Given the description of an element on the screen output the (x, y) to click on. 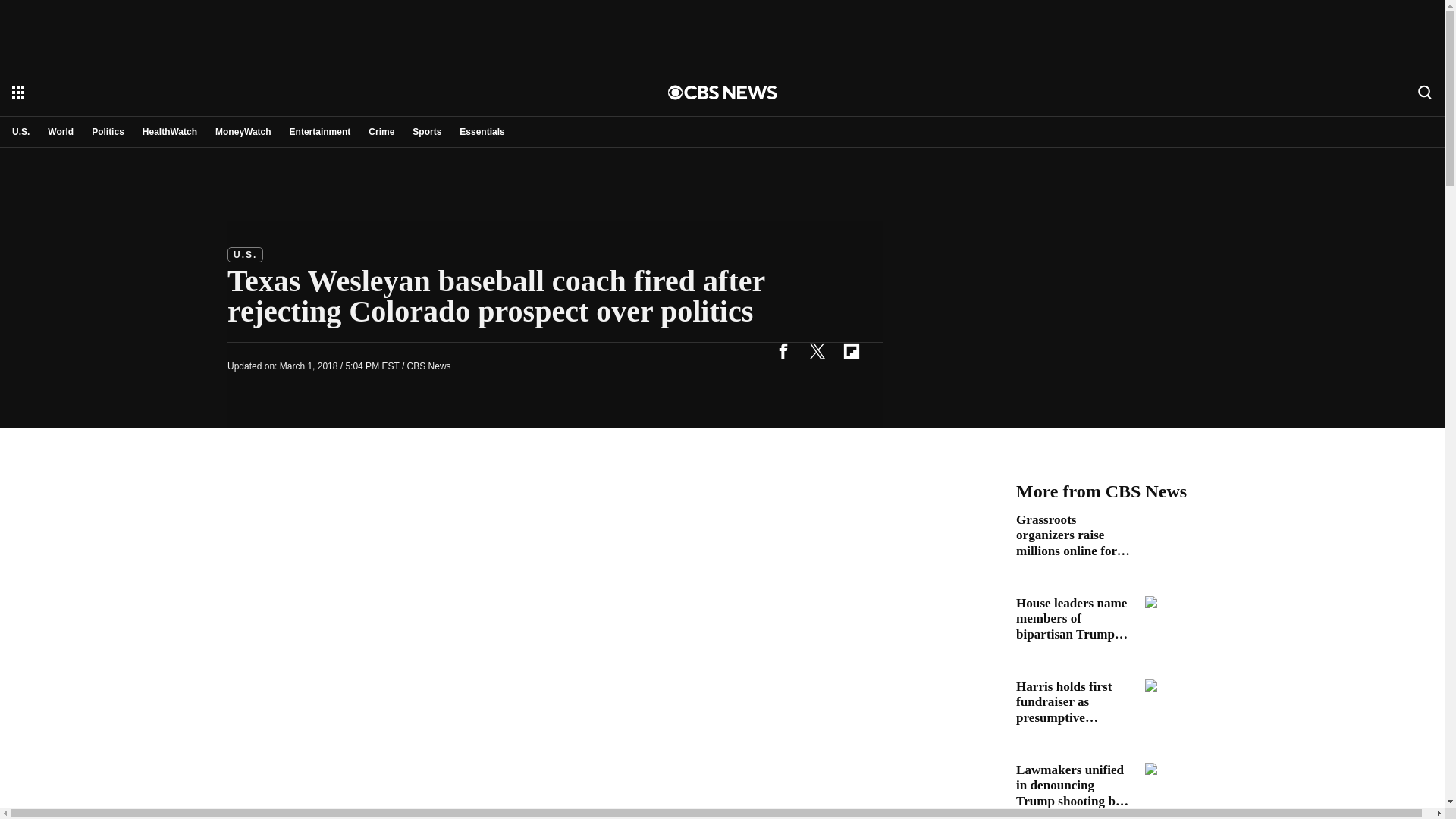
flipboard (850, 350)
twitter (816, 350)
facebook (782, 350)
